Given the description of an element on the screen output the (x, y) to click on. 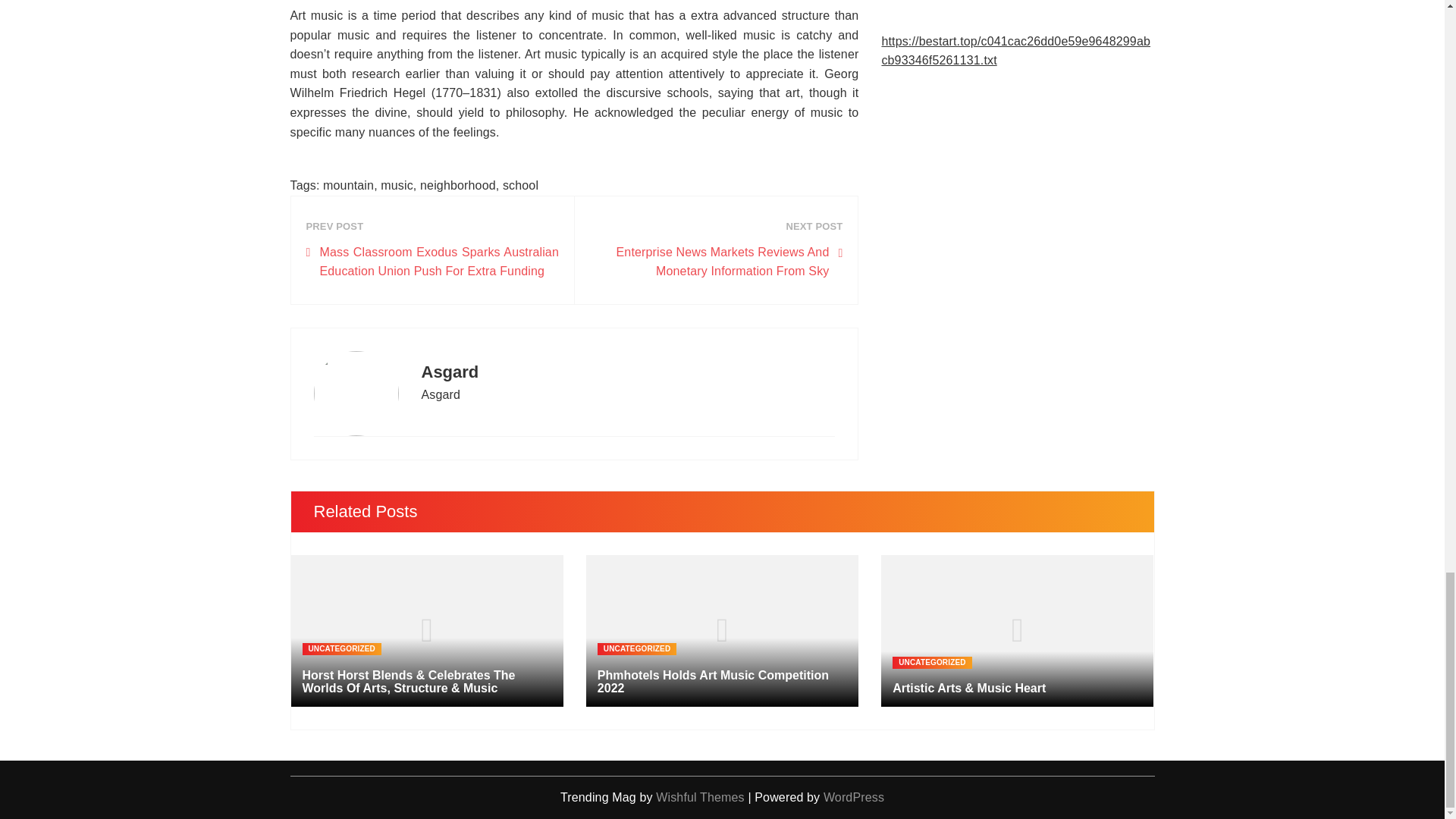
mountain (348, 185)
music (396, 185)
school (520, 185)
neighborhood (458, 185)
